Given the description of an element on the screen output the (x, y) to click on. 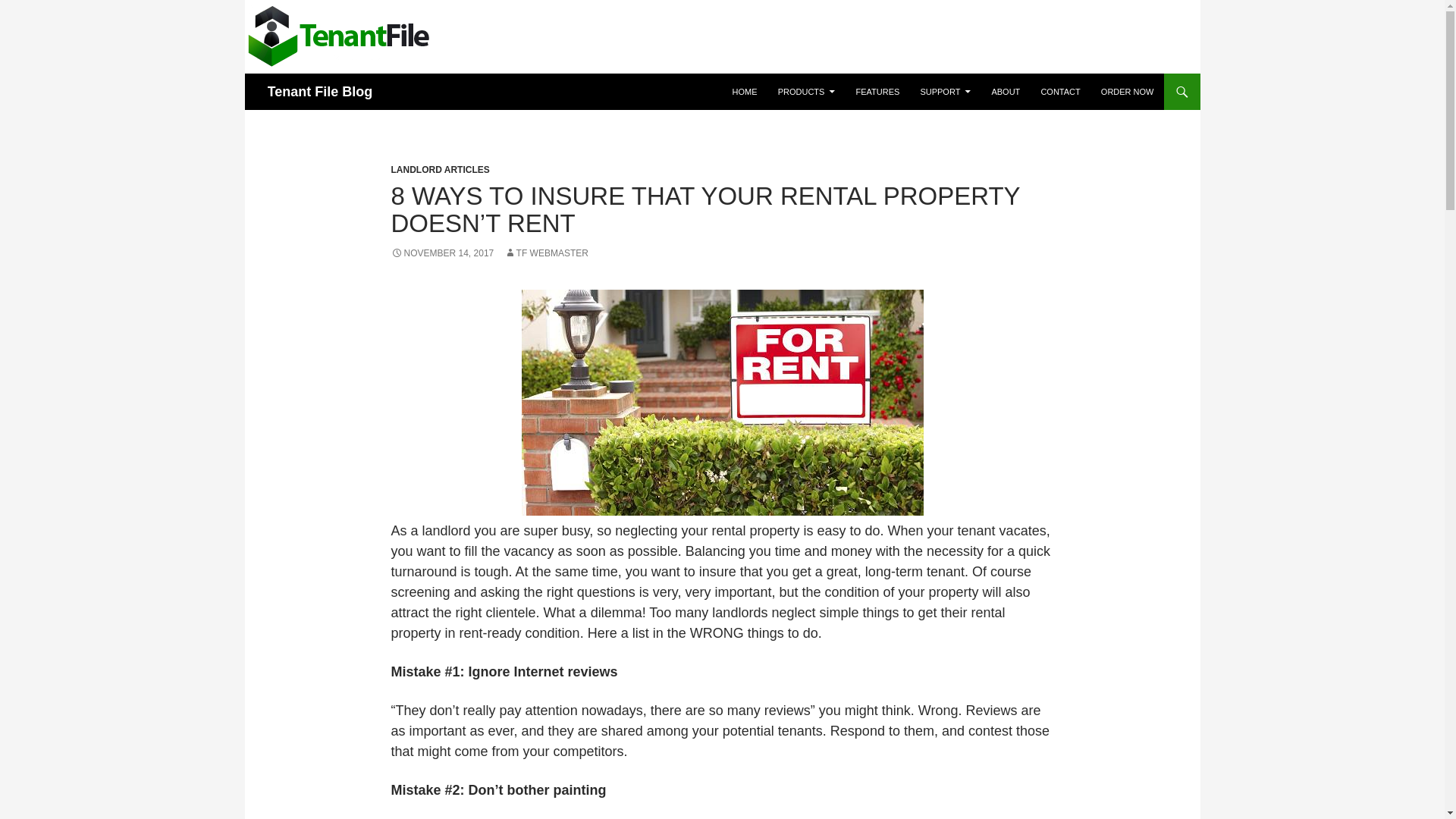
ORDER NOW (1127, 91)
ABOUT (1005, 91)
NOVEMBER 14, 2017 (443, 253)
SUPPORT (945, 91)
HOME (745, 91)
CONTACT (1059, 91)
PRODUCTS (806, 91)
Tenant File Blog (319, 91)
